Given the description of an element on the screen output the (x, y) to click on. 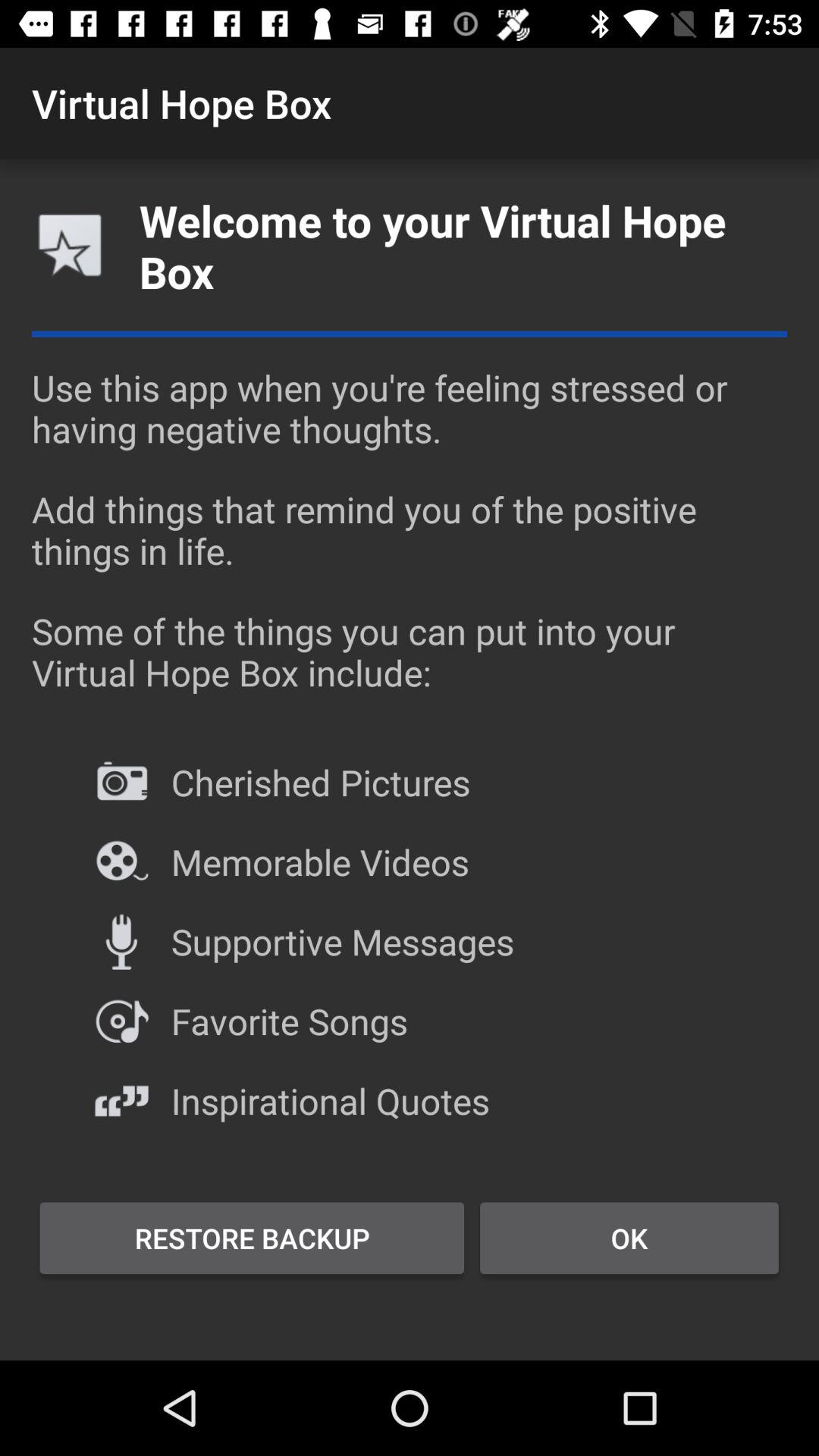
press item next to the ok icon (251, 1237)
